Given the description of an element on the screen output the (x, y) to click on. 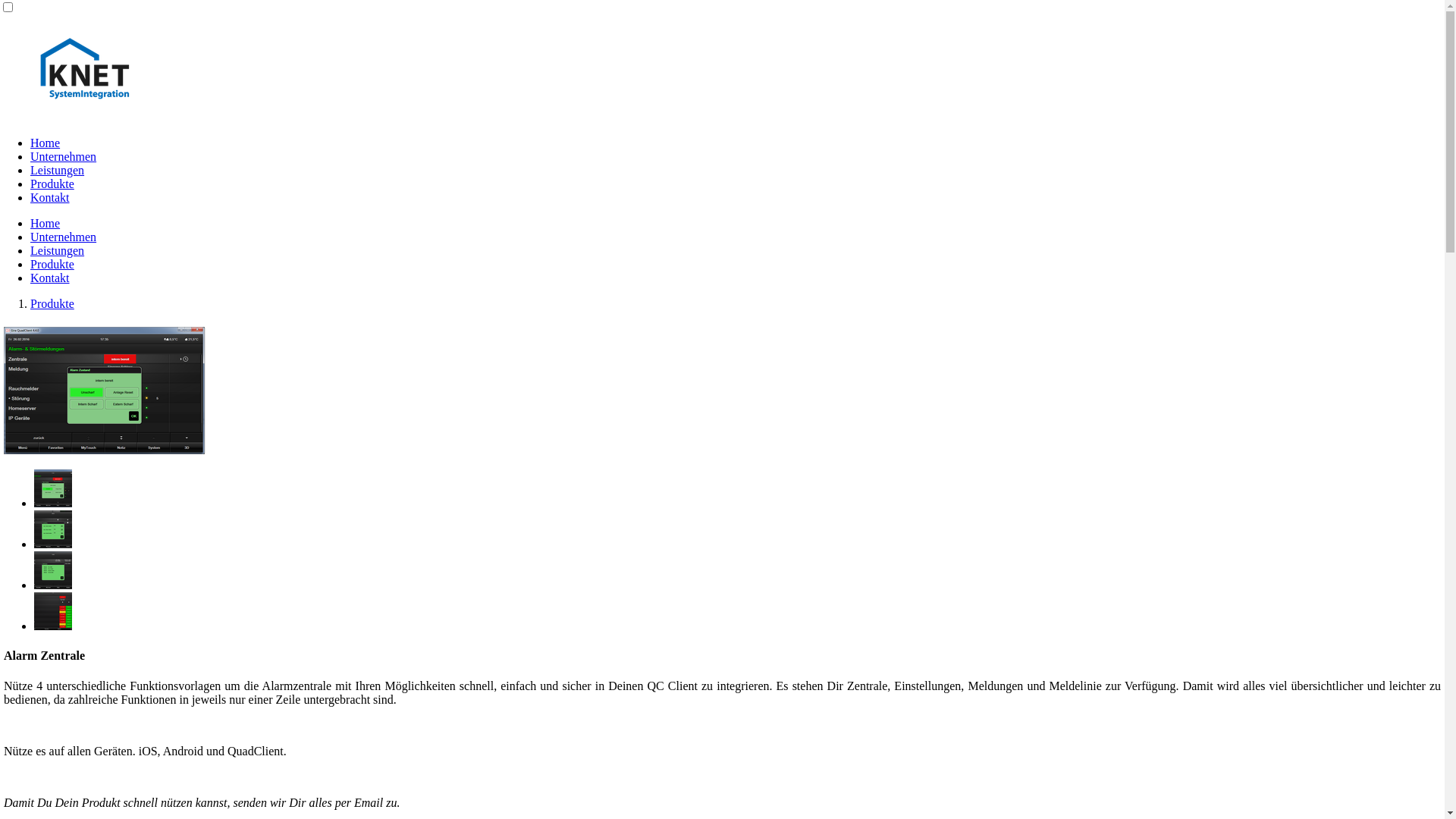
Produkte Element type: text (52, 183)
Home Element type: text (44, 222)
Unternehmen Element type: text (63, 236)
Leistungen Element type: text (57, 250)
Kontakt Element type: text (49, 197)
Home Element type: text (44, 142)
Unternehmen Element type: text (63, 156)
Produkte Element type: text (52, 263)
Leistungen Element type: text (57, 169)
Produkte Element type: text (52, 303)
Kontakt Element type: text (49, 277)
